Given the description of an element on the screen output the (x, y) to click on. 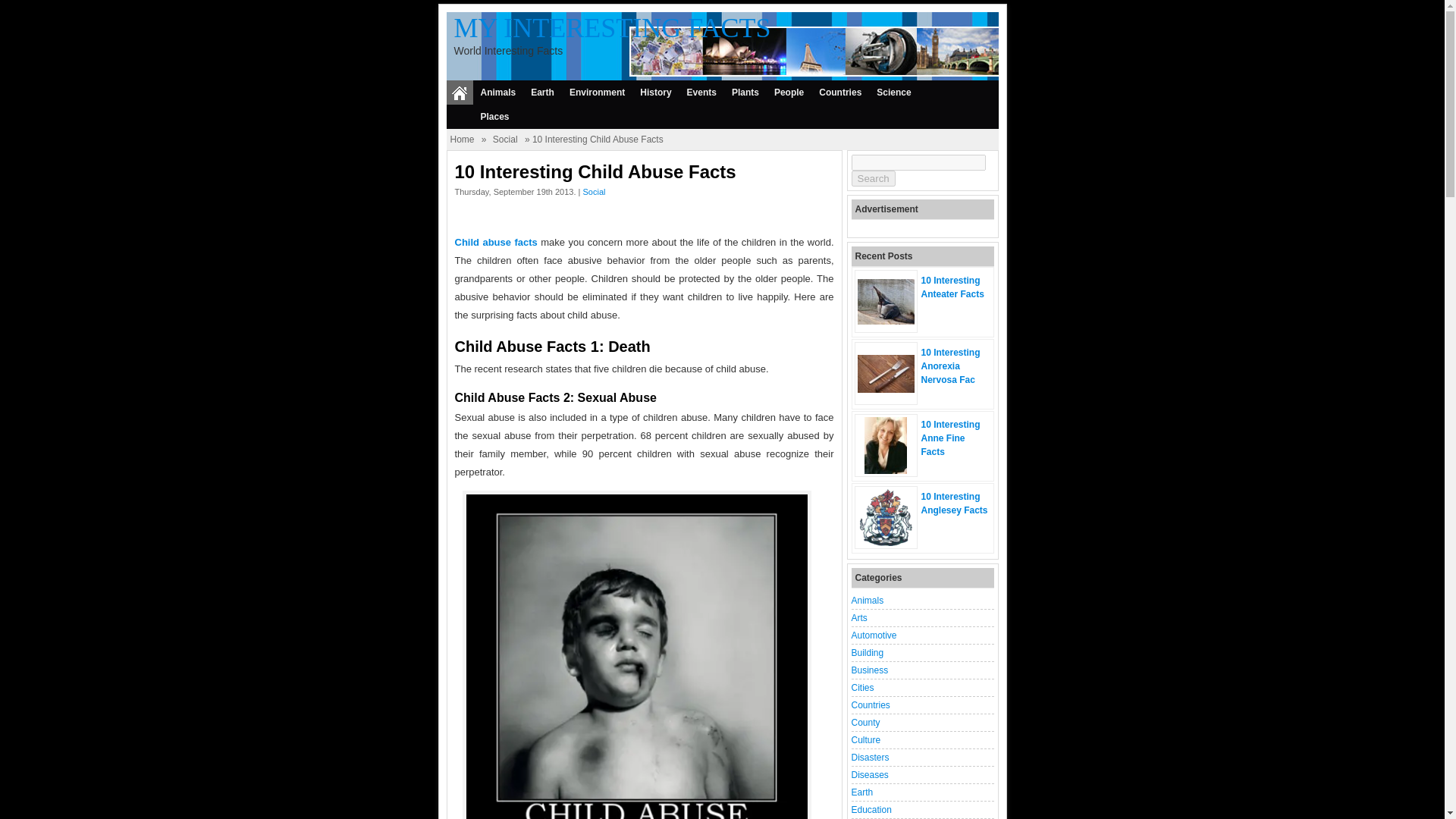
Earth (542, 92)
Search (872, 178)
10 Interesting Anteater Facts (952, 287)
Social (593, 191)
Search (872, 178)
10 Interesting Anglesey Facts (953, 503)
Environment (596, 92)
Child abuse facts (495, 242)
Countries (839, 92)
10 Interesting Anne Fine Facts (885, 470)
